Given the description of an element on the screen output the (x, y) to click on. 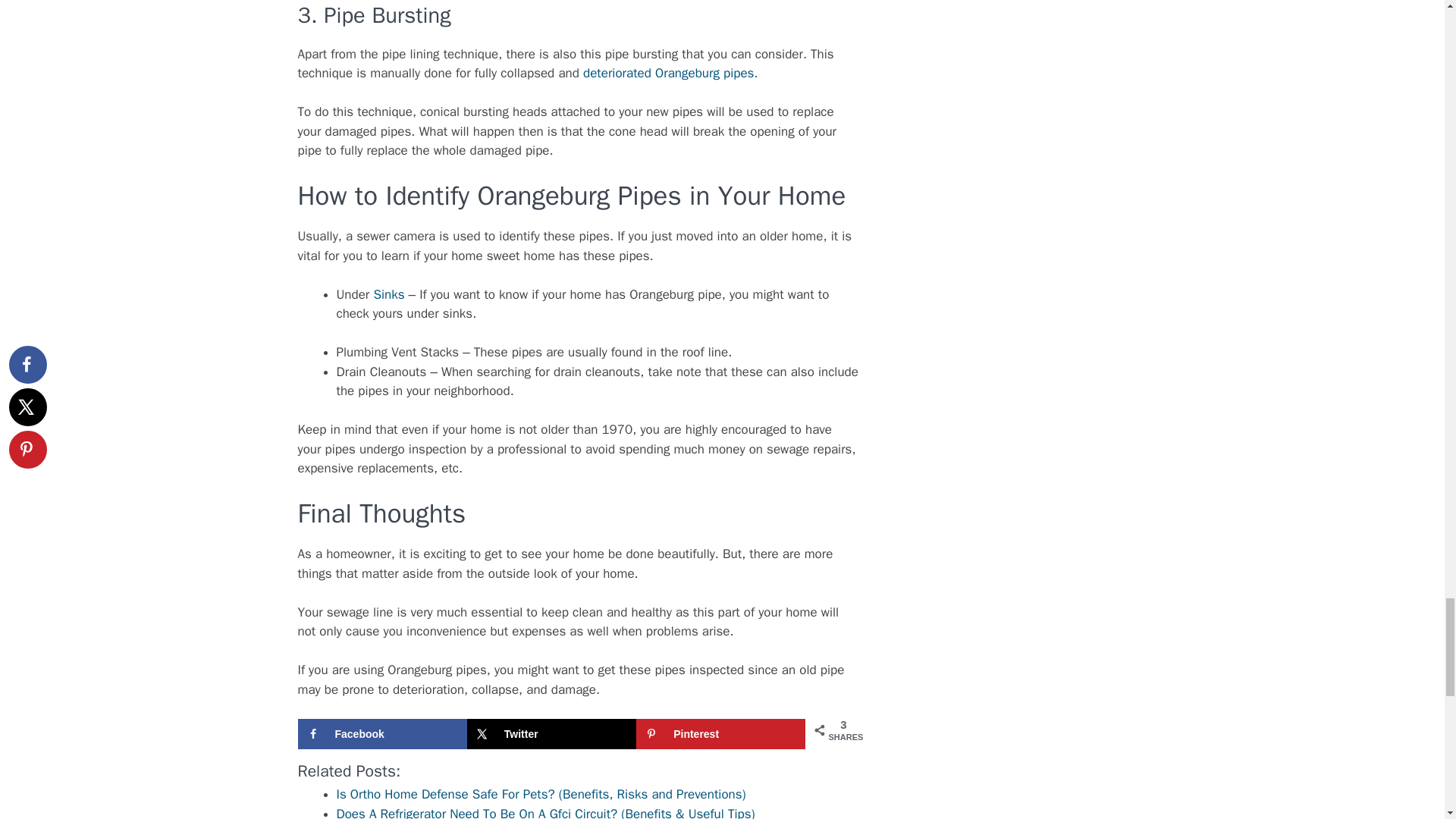
Save to Pinterest (720, 734)
Share on X (551, 734)
Share on Facebook (381, 734)
